Given the description of an element on the screen output the (x, y) to click on. 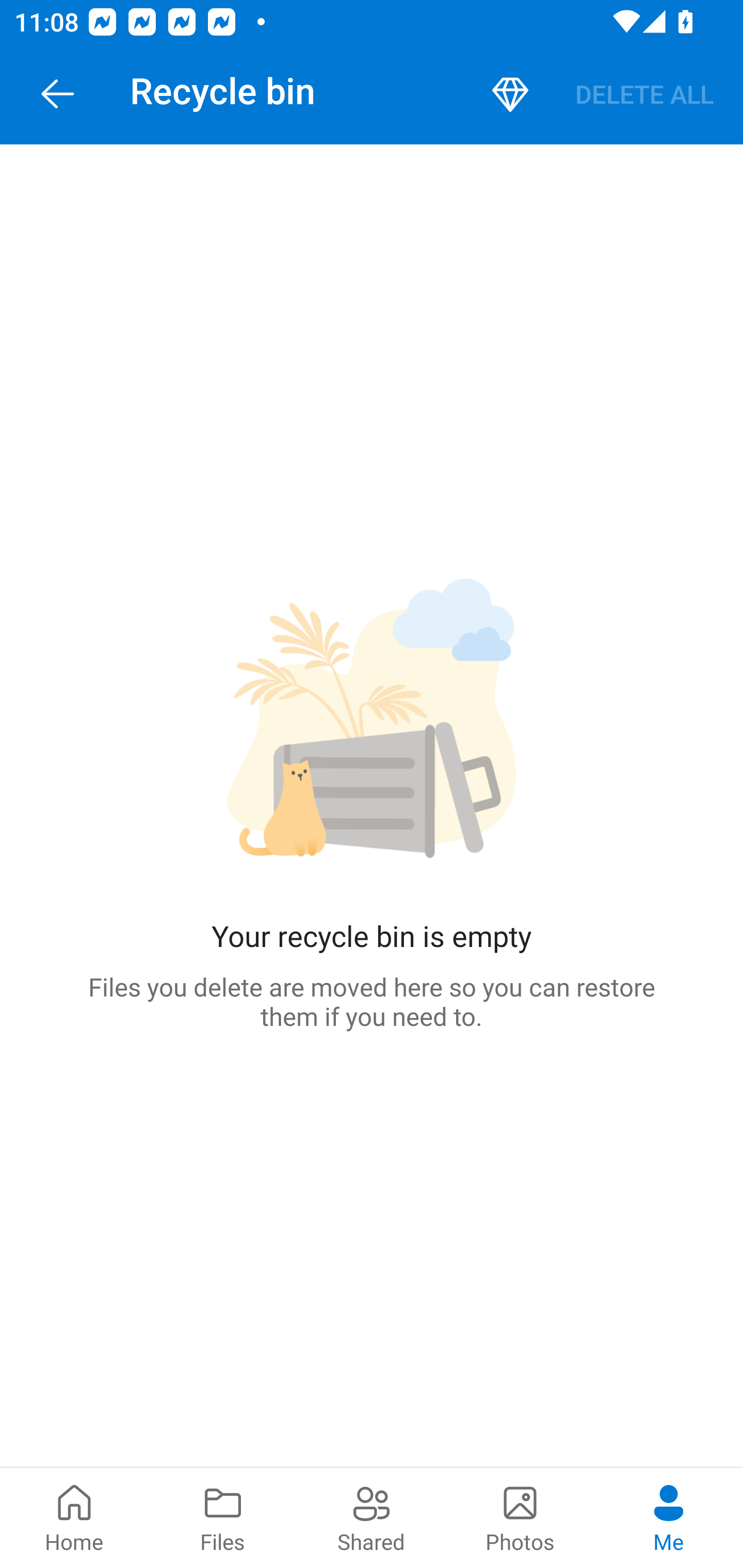
Navigate Up (57, 93)
Premium button (509, 93)
DELETE ALL Delete all button (644, 93)
Home pivot Home (74, 1517)
Files pivot Files (222, 1517)
Shared pivot Shared (371, 1517)
Photos pivot Photos (519, 1517)
